Given the description of an element on the screen output the (x, y) to click on. 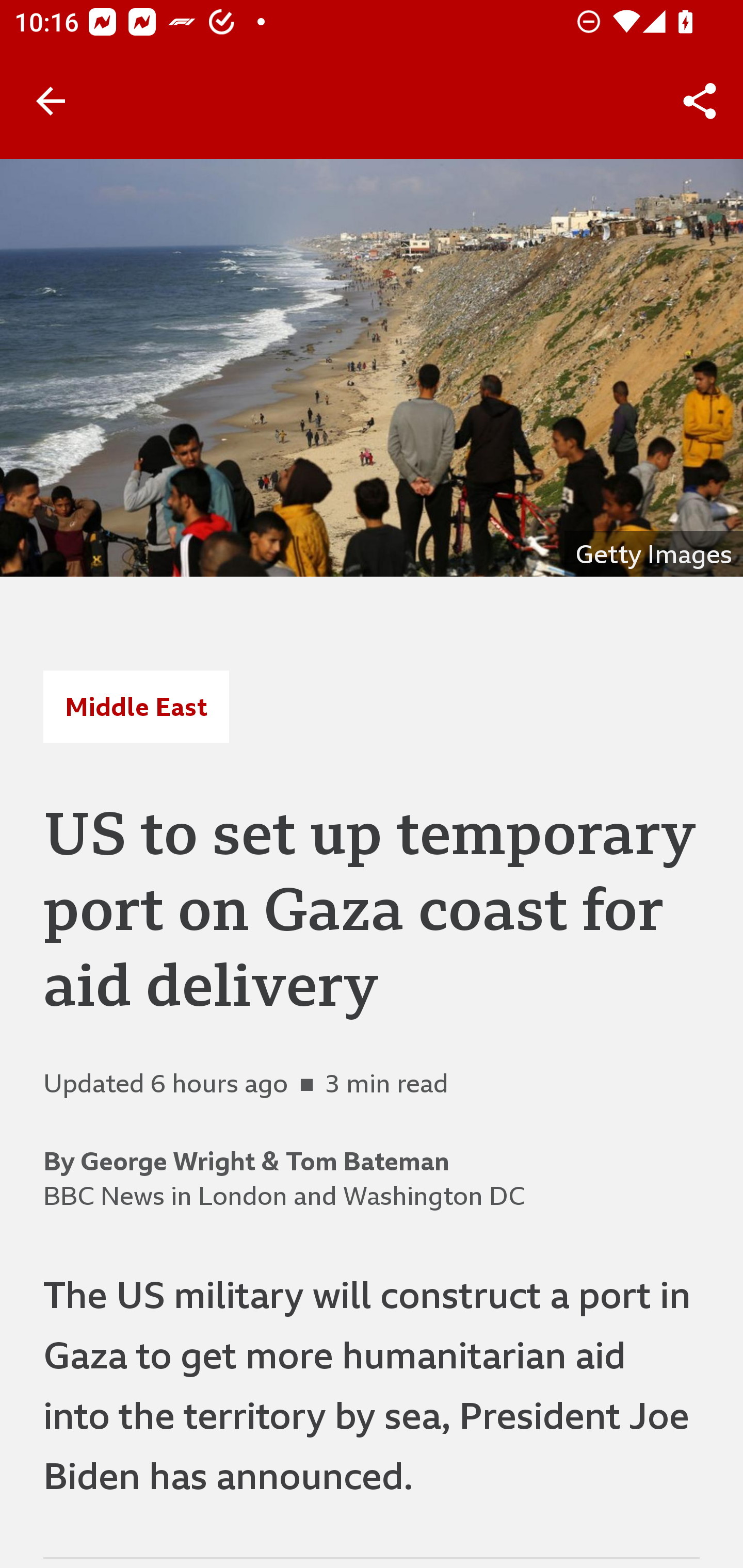
Back (50, 101)
Share (699, 101)
palestinians wait fgor air drop, deir al balah (371, 367)
Middle East (135, 706)
